Given the description of an element on the screen output the (x, y) to click on. 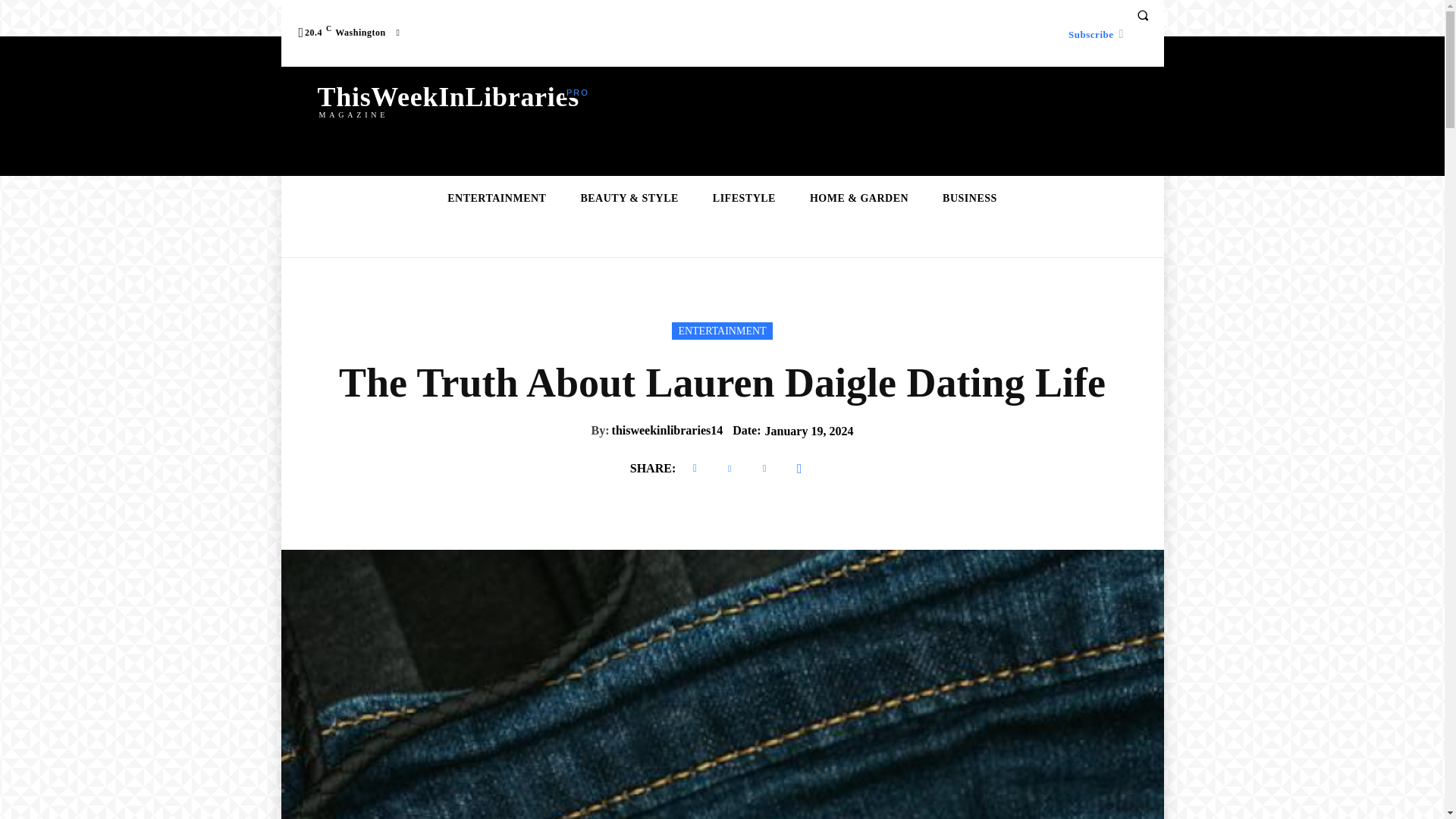
WhatsApp (798, 468)
Facebook (694, 468)
Twitter (729, 468)
Pinterest (763, 468)
